Given the description of an element on the screen output the (x, y) to click on. 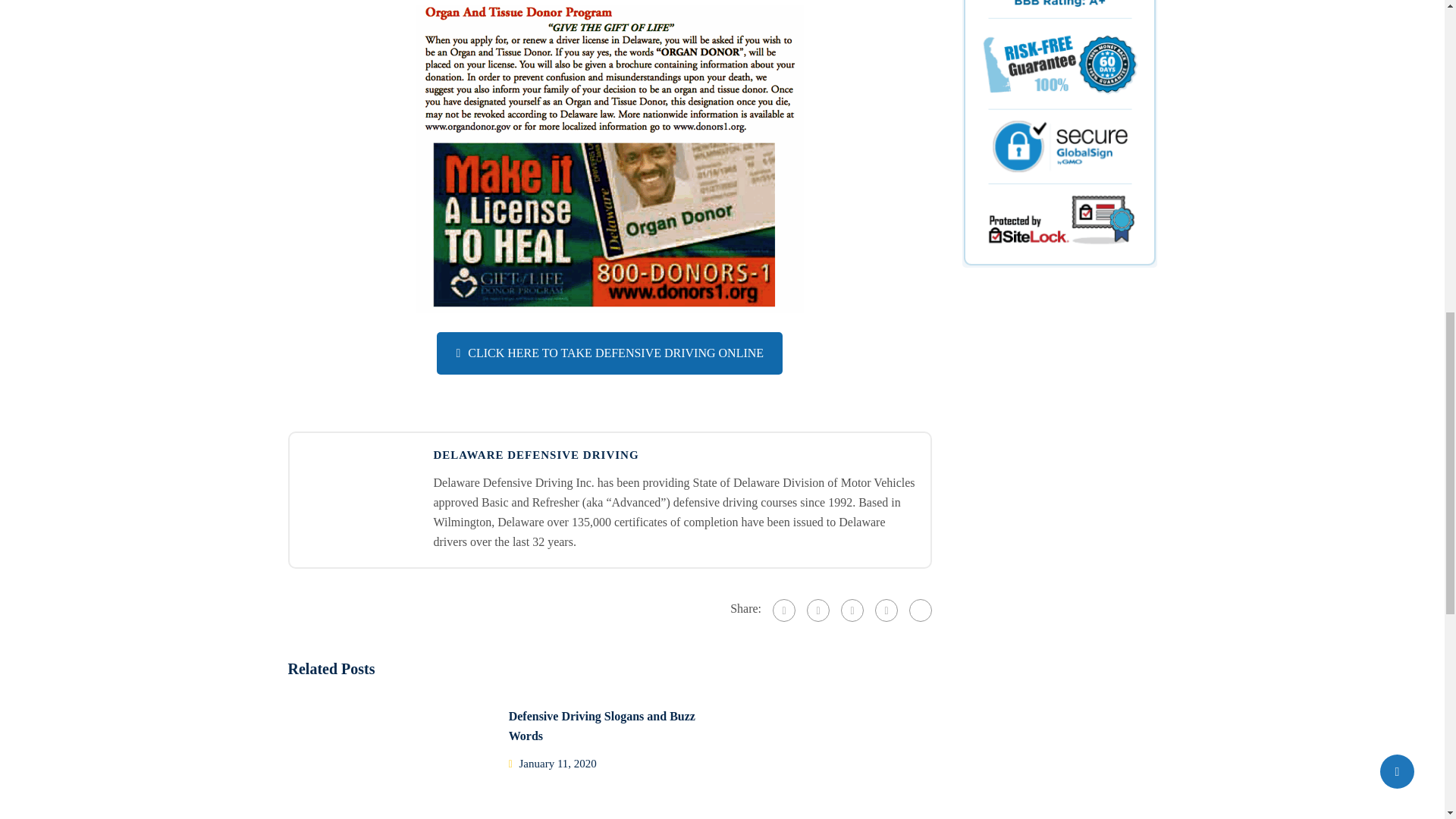
Defensive Driving Slogans and Buzz Words (601, 726)
Facebook (783, 609)
CLICK HERE TO TAKE DEFENSIVE DRIVING ONLINE (609, 353)
Pinterest (886, 609)
January 11, 2020 (557, 763)
Twitter (852, 609)
Google Plus (817, 609)
